Given the description of an element on the screen output the (x, y) to click on. 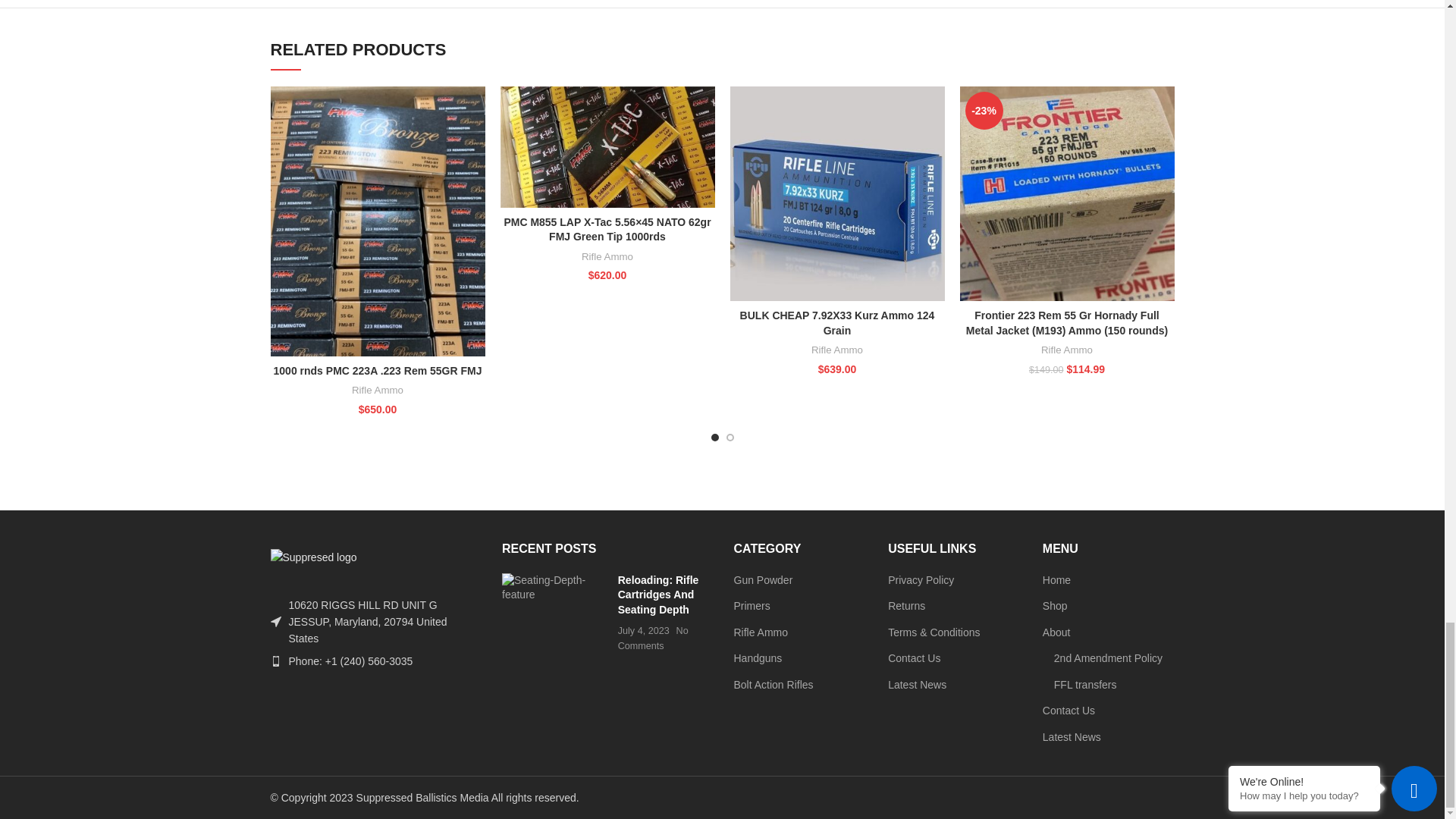
Seating-Depth-feature (554, 587)
wd-cursor-light (275, 621)
Suppresed logo (312, 556)
Permalink to Reloading: Rifle Cartridges And Seating Depth (657, 594)
wd-phone-light (275, 661)
